Given the description of an element on the screen output the (x, y) to click on. 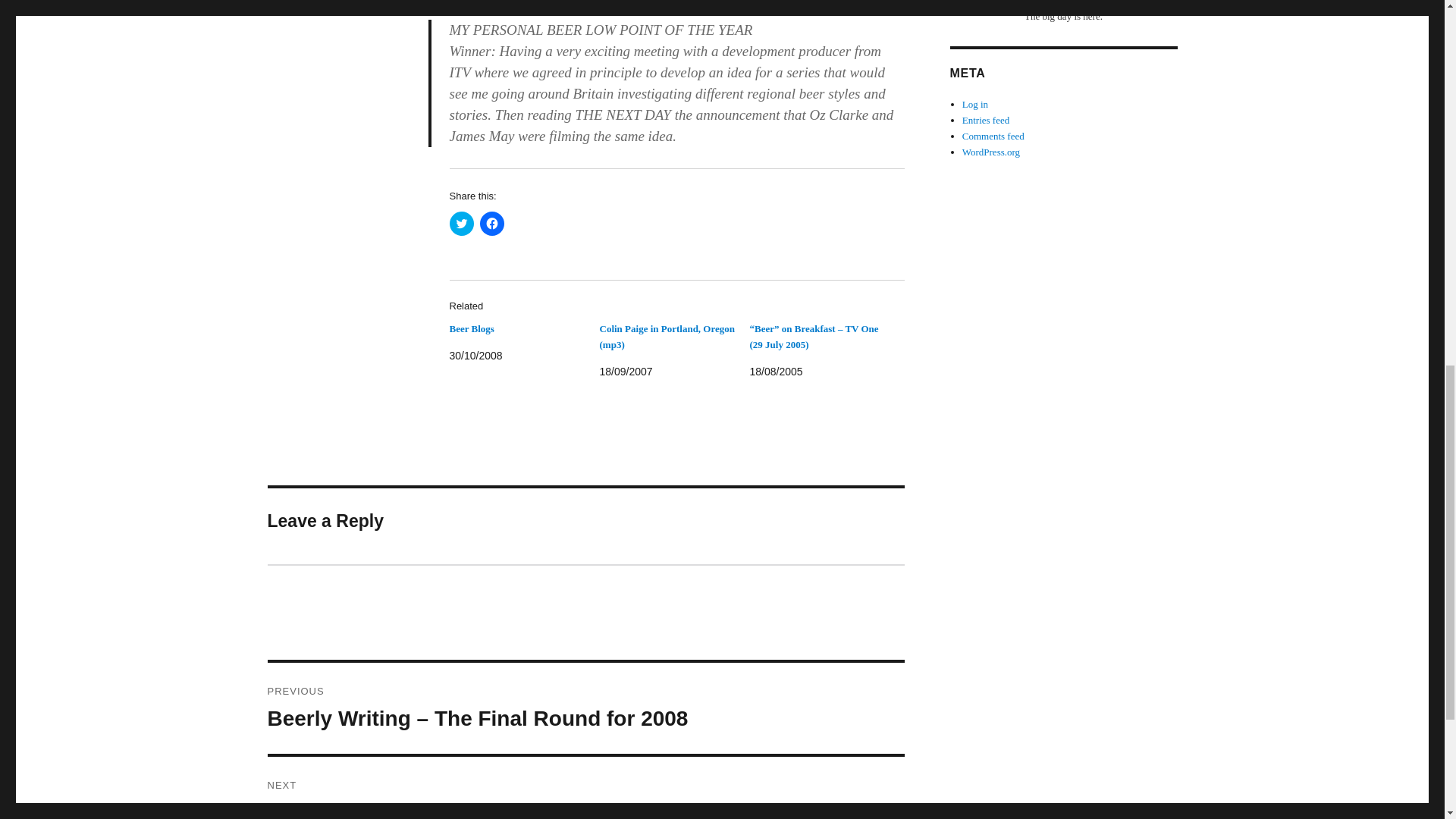
WordPress.org (991, 152)
Beer Blogs (470, 328)
Comments feed (993, 135)
Log in (975, 103)
Click to share on Facebook (491, 223)
Beer Blogs (585, 787)
Entries feed (470, 328)
Click to share on Twitter (985, 120)
